Given the description of an element on the screen output the (x, y) to click on. 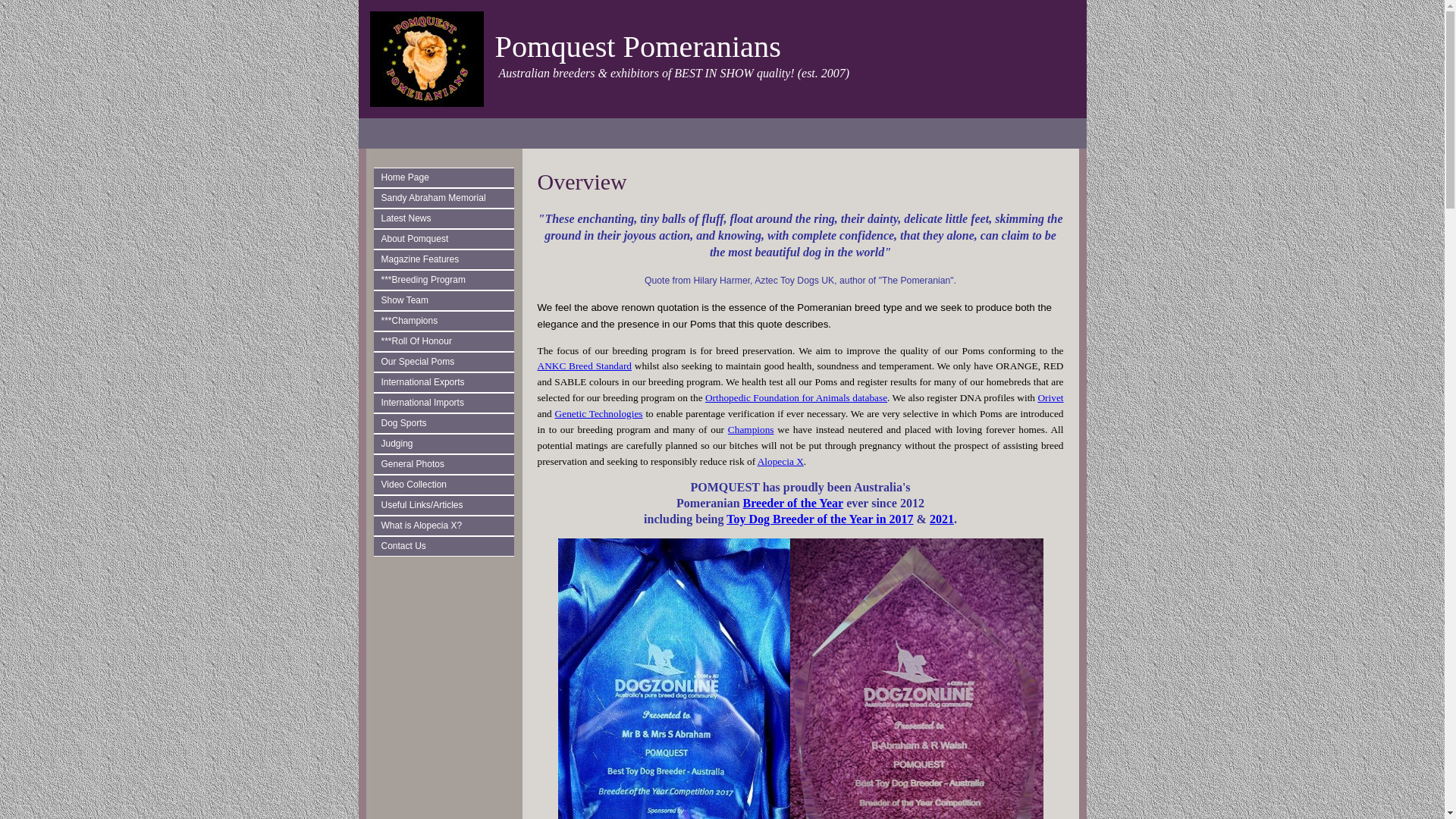
About Pomquest Element type: text (446, 238)
Champions Element type: text (751, 429)
***Roll Of Honour Element type: text (446, 341)
Genetic Technologies Element type: text (599, 413)
International Exports Element type: text (446, 382)
Toy Dog Breeder of the Year in 2017 Element type: text (819, 518)
***Breeding Program Element type: text (446, 279)
Our Special Poms Element type: text (446, 361)
ANKC Breed Standard Element type: text (583, 365)
Judging Element type: text (446, 443)
International Imports Element type: text (446, 402)
General Photos Element type: text (446, 464)
Breeder of the Year Element type: text (793, 502)
Latest News Element type: text (446, 218)
Show Team Element type: text (446, 300)
Orthopedic Foundation for Animals database Element type: text (796, 397)
Orivet Element type: text (1050, 397)
Dog Sports Element type: text (446, 423)
***Champions Element type: text (446, 320)
Home Page Element type: text (446, 177)
Alopecia X Element type: text (780, 461)
Sandy Abraham Memorial Element type: text (446, 197)
Magazine Features Element type: text (446, 259)
Useful Links/Articles Element type: text (446, 504)
Video Collection Element type: text (446, 484)
What is Alopecia X? Element type: text (446, 525)
Contact Us Element type: text (446, 545)
2021 Element type: text (941, 518)
